Given the description of an element on the screen output the (x, y) to click on. 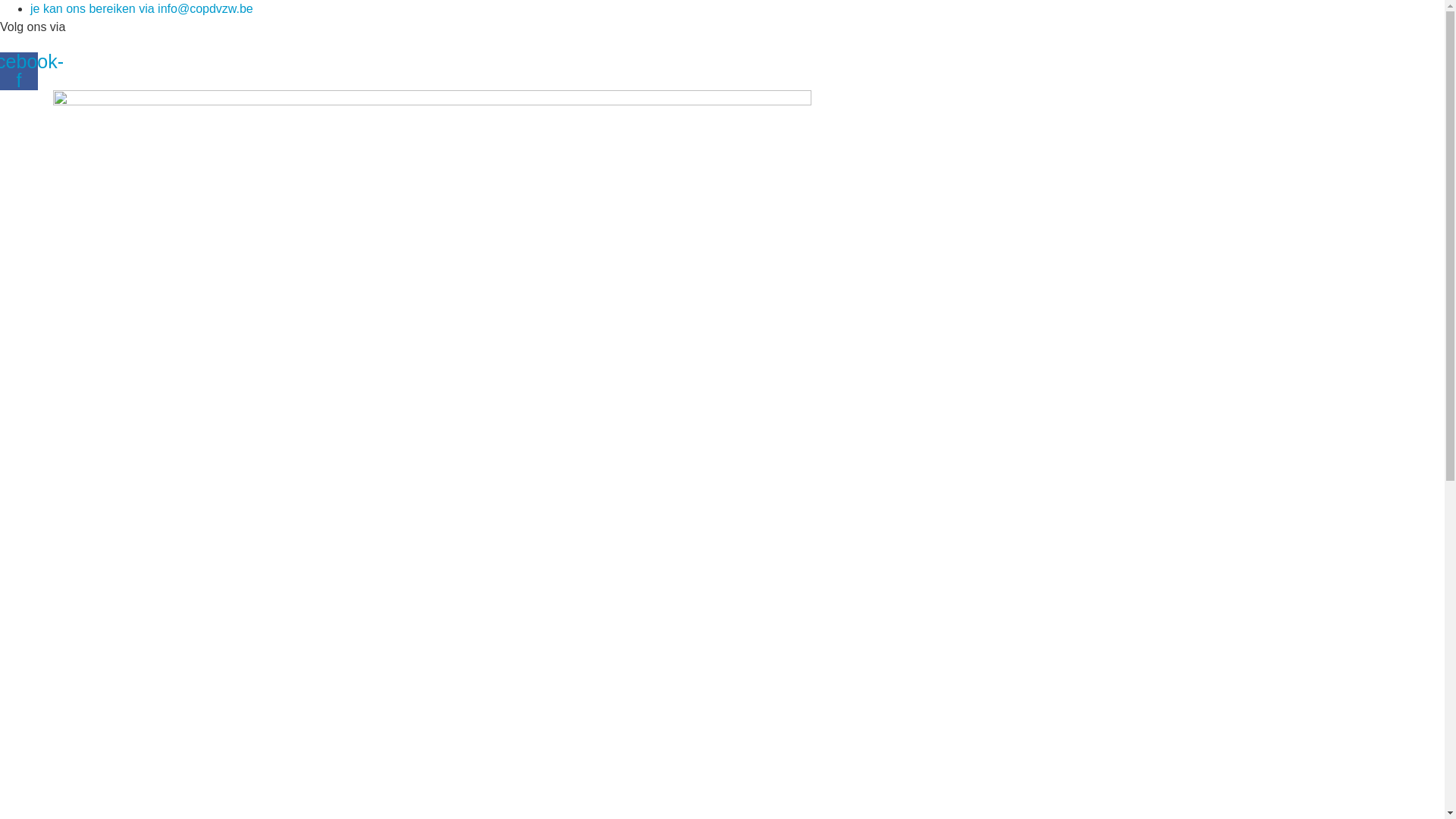
je kan ons bereiken via info@copdvzw.be Element type: text (141, 8)
Facebook-f Element type: text (18, 71)
